Given the description of an element on the screen output the (x, y) to click on. 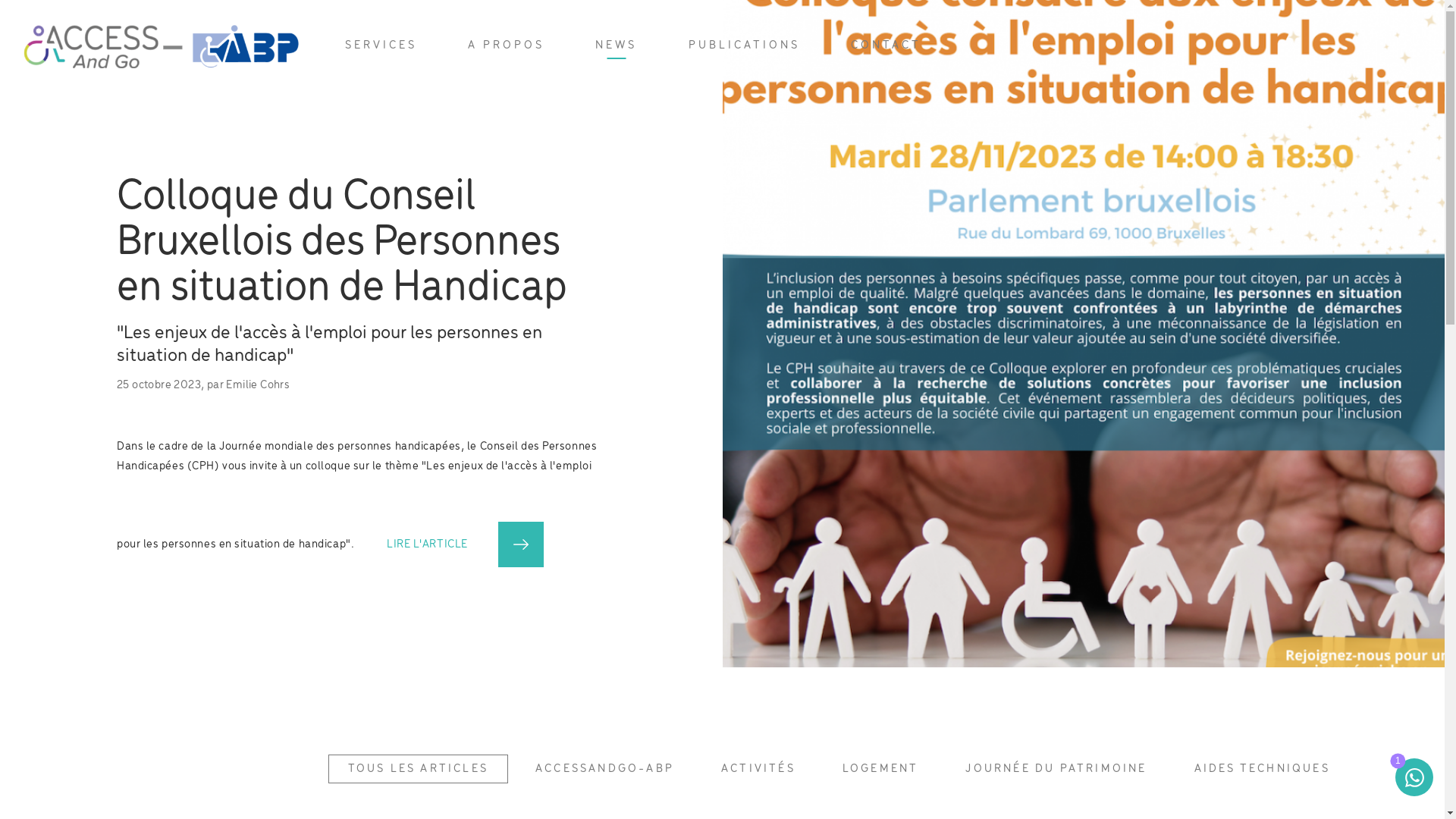
SERVICES Element type: text (381, 45)
ACCESSANDGO-ABP Element type: text (604, 768)
NEWS Element type: text (616, 45)
CONTACT Element type: text (885, 45)
PUBLICATIONS Element type: text (744, 45)
ACCESS AND GO Element type: text (160, 45)
A PROPOS Element type: text (505, 45)
LIRE L'ARTICLE Element type: text (449, 544)
LOGEMENT Element type: text (880, 768)
TOUS LES ARTICLES Element type: text (418, 768)
AIDES TECHNIQUES Element type: text (1262, 768)
